Given the description of an element on the screen output the (x, y) to click on. 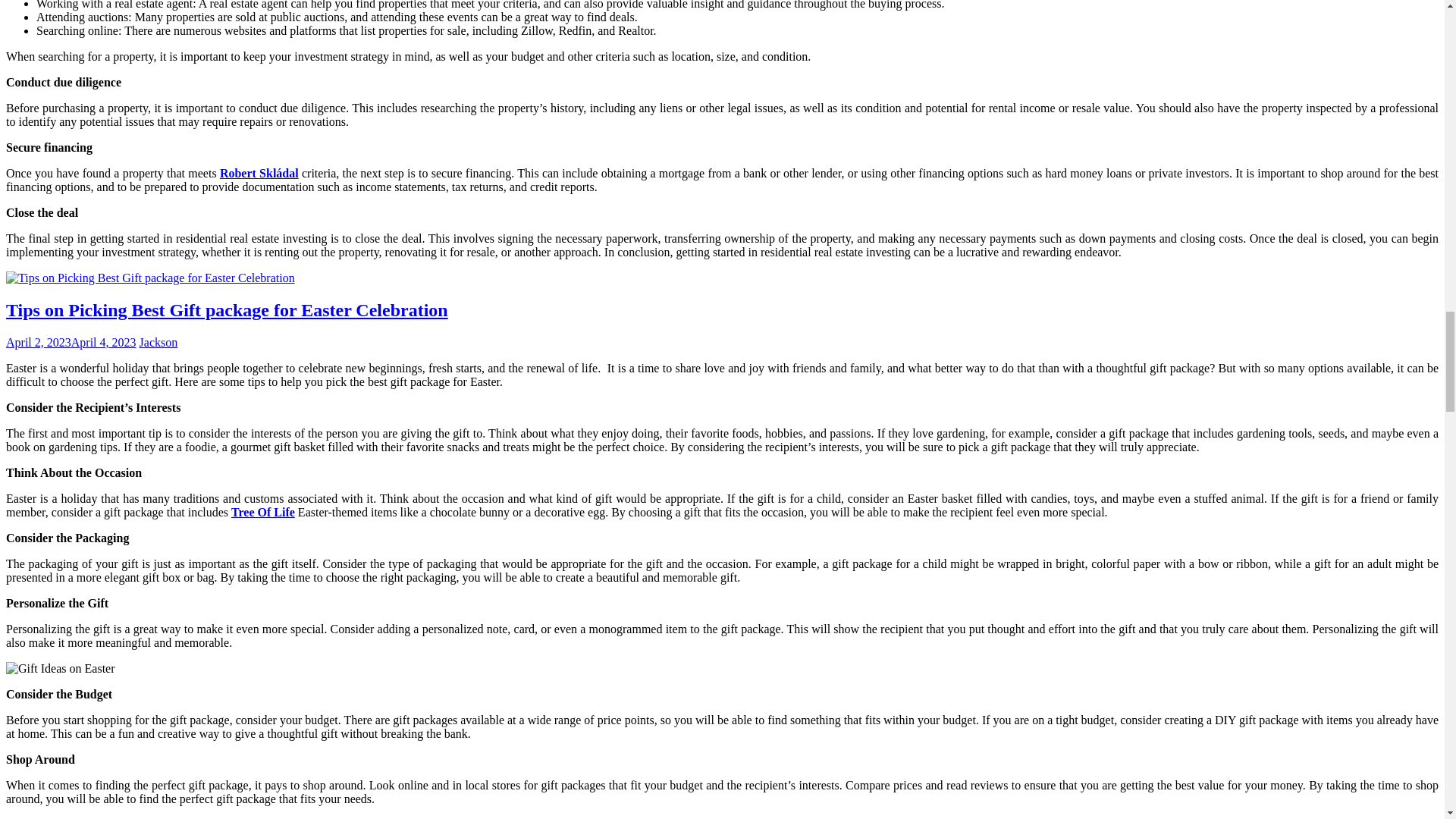
Tree Of Life (263, 512)
Tips on Picking Best Gift package for Easter Celebration (226, 310)
Jackson (158, 341)
April 2, 2023April 4, 2023 (70, 341)
